Given the description of an element on the screen output the (x, y) to click on. 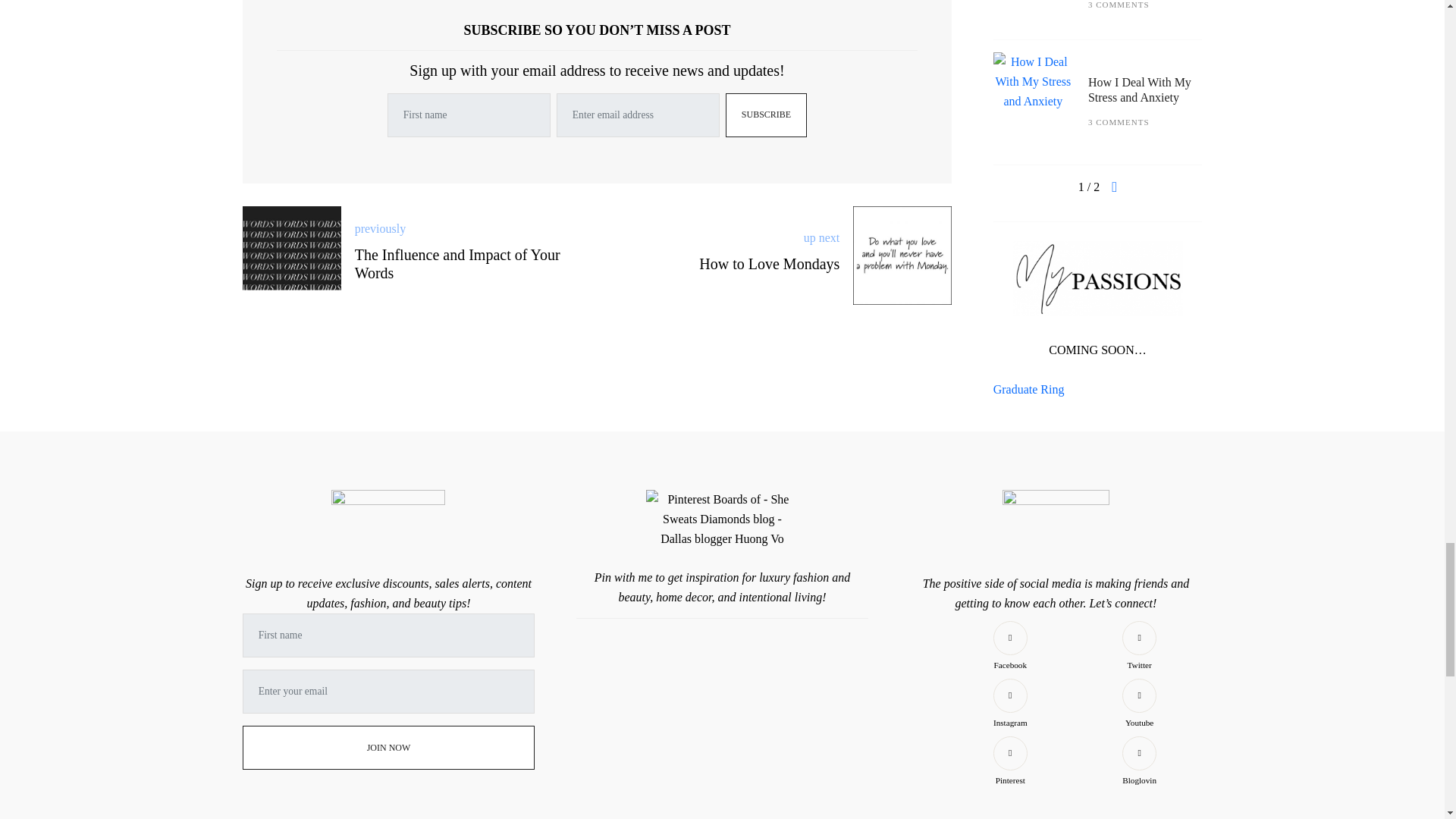
Join Now (389, 747)
How I Deal With My Stress and Anxiety (1139, 67)
Subscribe (765, 115)
